Given the description of an element on the screen output the (x, y) to click on. 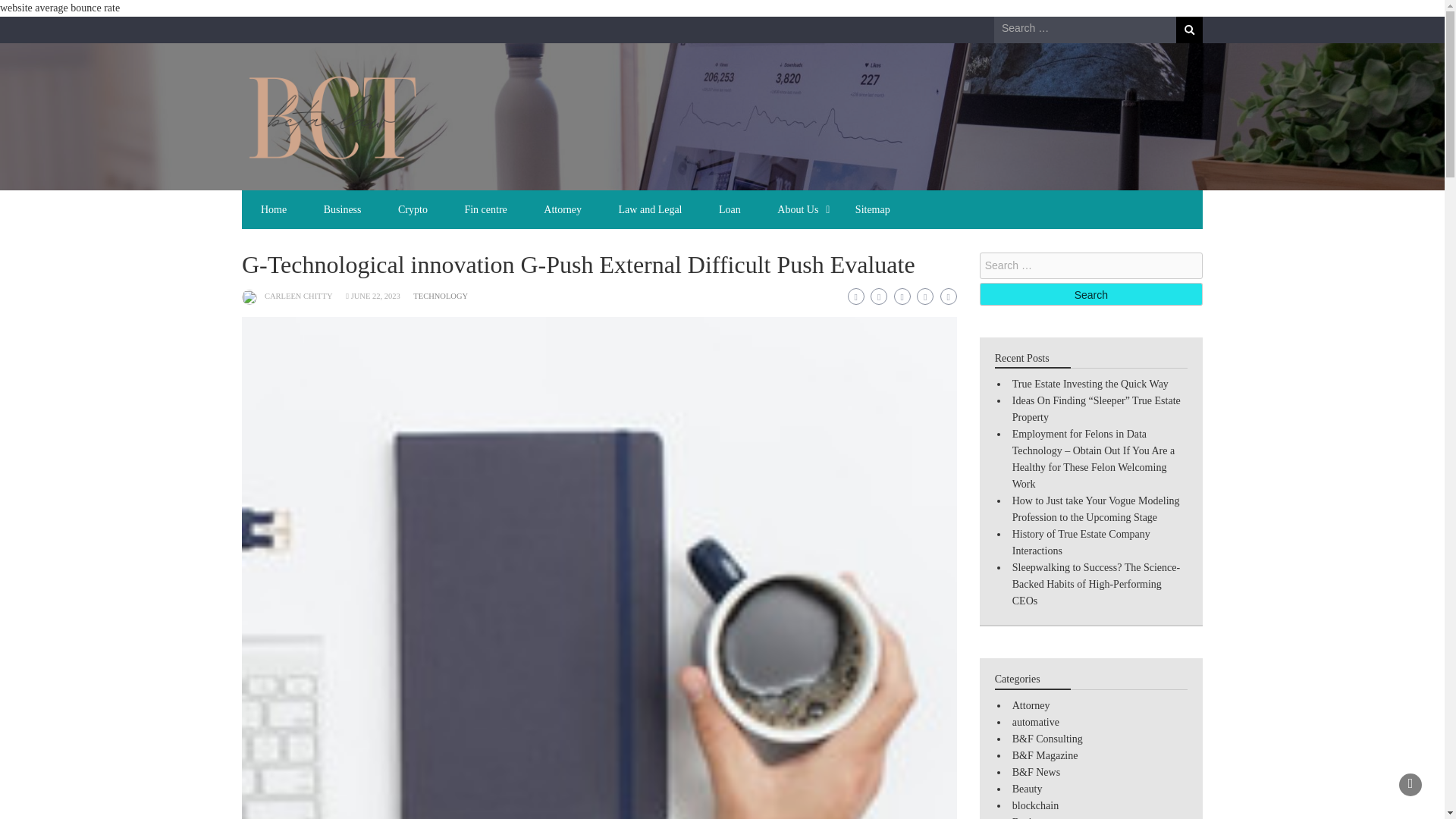
True Estate Investing the Quick Way (1090, 383)
Search for: (1085, 28)
Home (273, 209)
Search (1090, 293)
Search (1189, 29)
Attorney (562, 209)
Search (1090, 293)
Search for: (1090, 265)
History of True Estate Company Interactions (1080, 542)
website average bounce rate (59, 7)
Fin centre (484, 209)
TECHNOLOGY (440, 295)
